Given the description of an element on the screen output the (x, y) to click on. 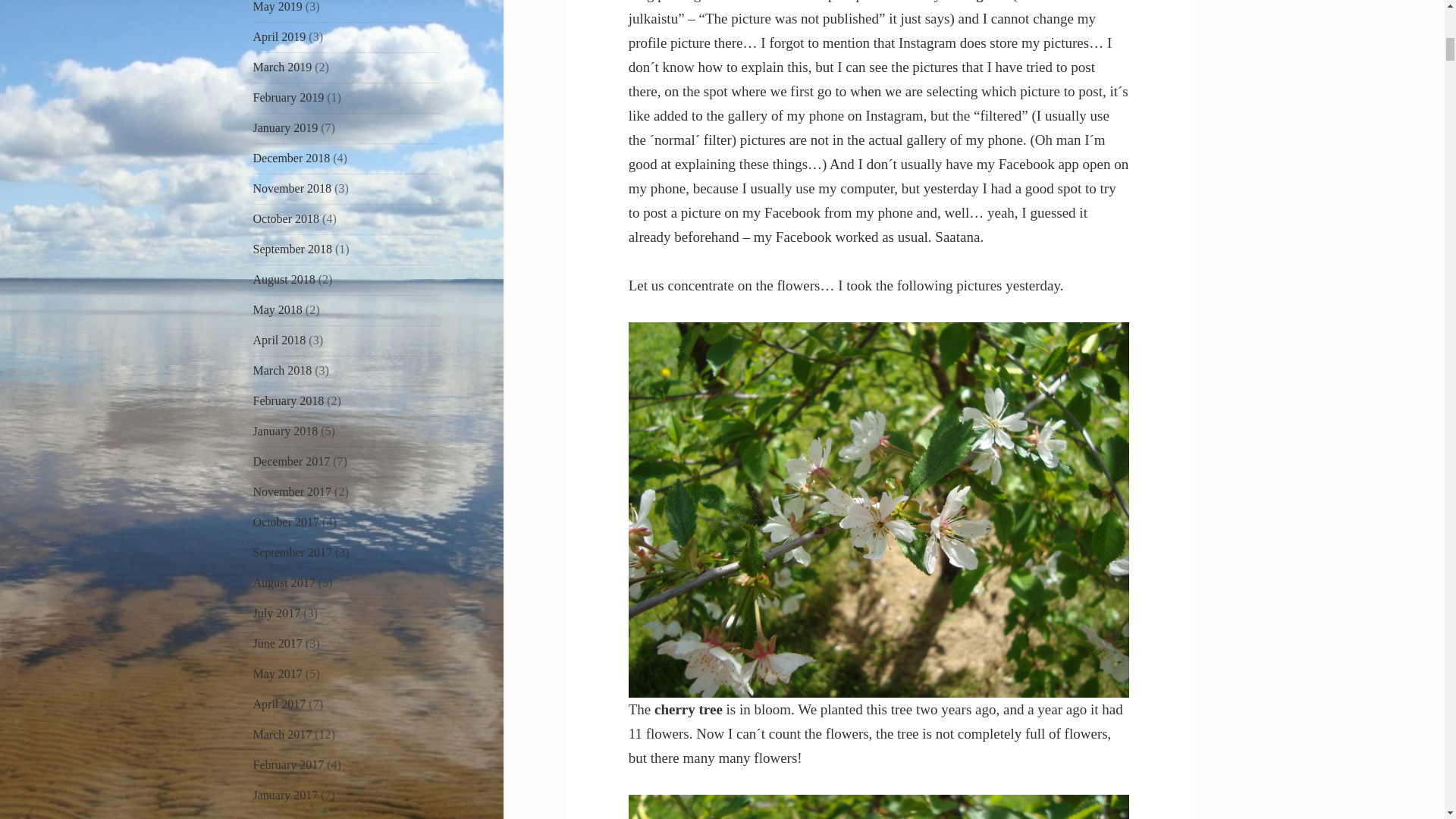
January 2019 (285, 127)
February 2019 (288, 97)
September 2018 (292, 248)
October 2018 (286, 218)
February 2018 (288, 400)
May 2018 (277, 309)
September 2017 (292, 552)
March 2019 (283, 66)
April 2018 (279, 339)
December 2017 (291, 461)
December 2018 (291, 157)
August 2018 (284, 278)
April 2019 (279, 36)
November 2018 (292, 187)
November 2017 (292, 491)
